Given the description of an element on the screen output the (x, y) to click on. 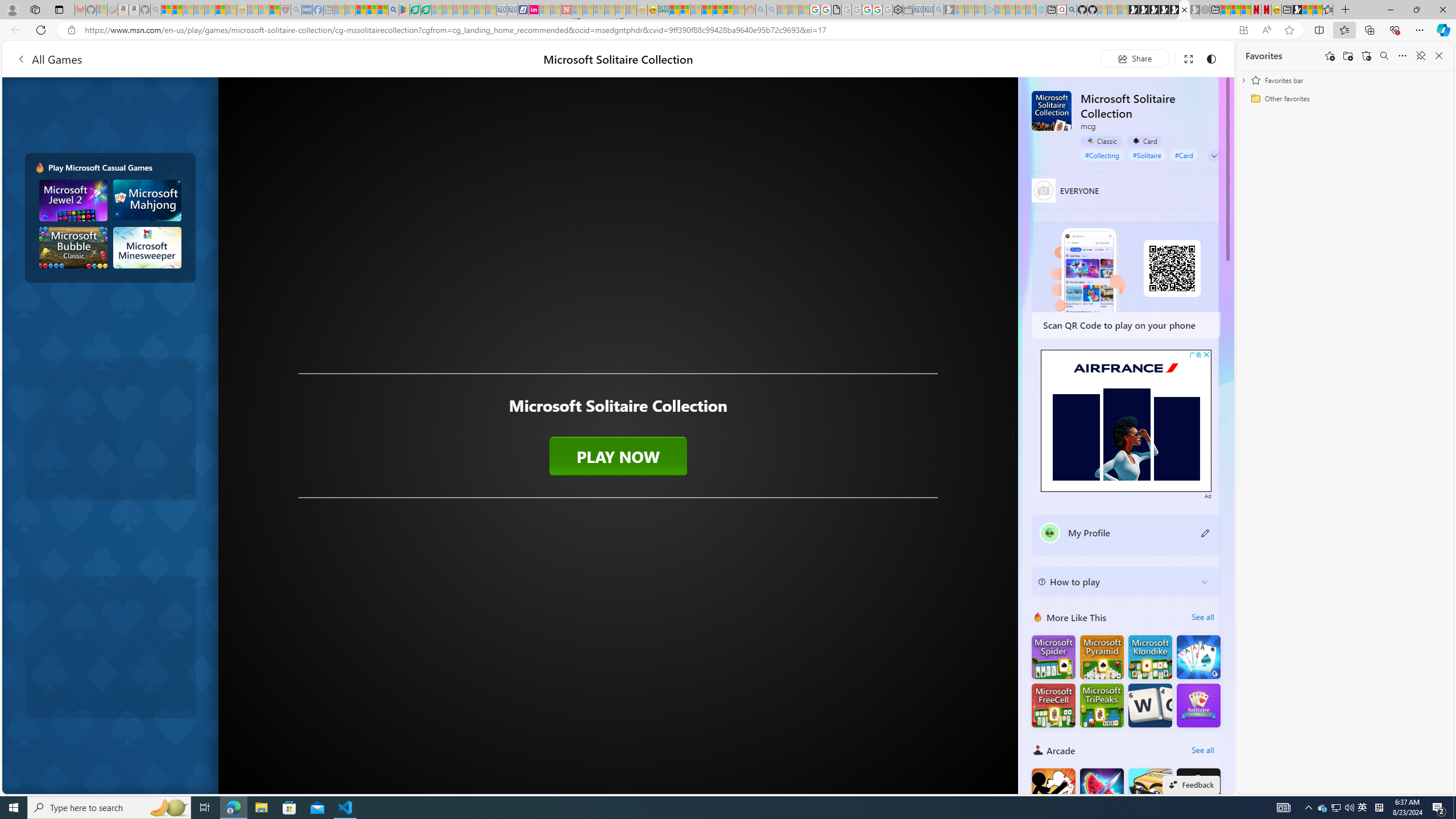
Microsoft Spider Solitaire (1053, 657)
Microsoft Mahjong (147, 200)
Robert H. Shmerling, MD - Harvard Health - Sleeping (285, 9)
Card (1143, 140)
Add this page to favorites (1330, 55)
Full screen (1187, 58)
PLAY NOW (618, 456)
MSN (1297, 9)
Close favorites (1439, 55)
